Given the description of an element on the screen output the (x, y) to click on. 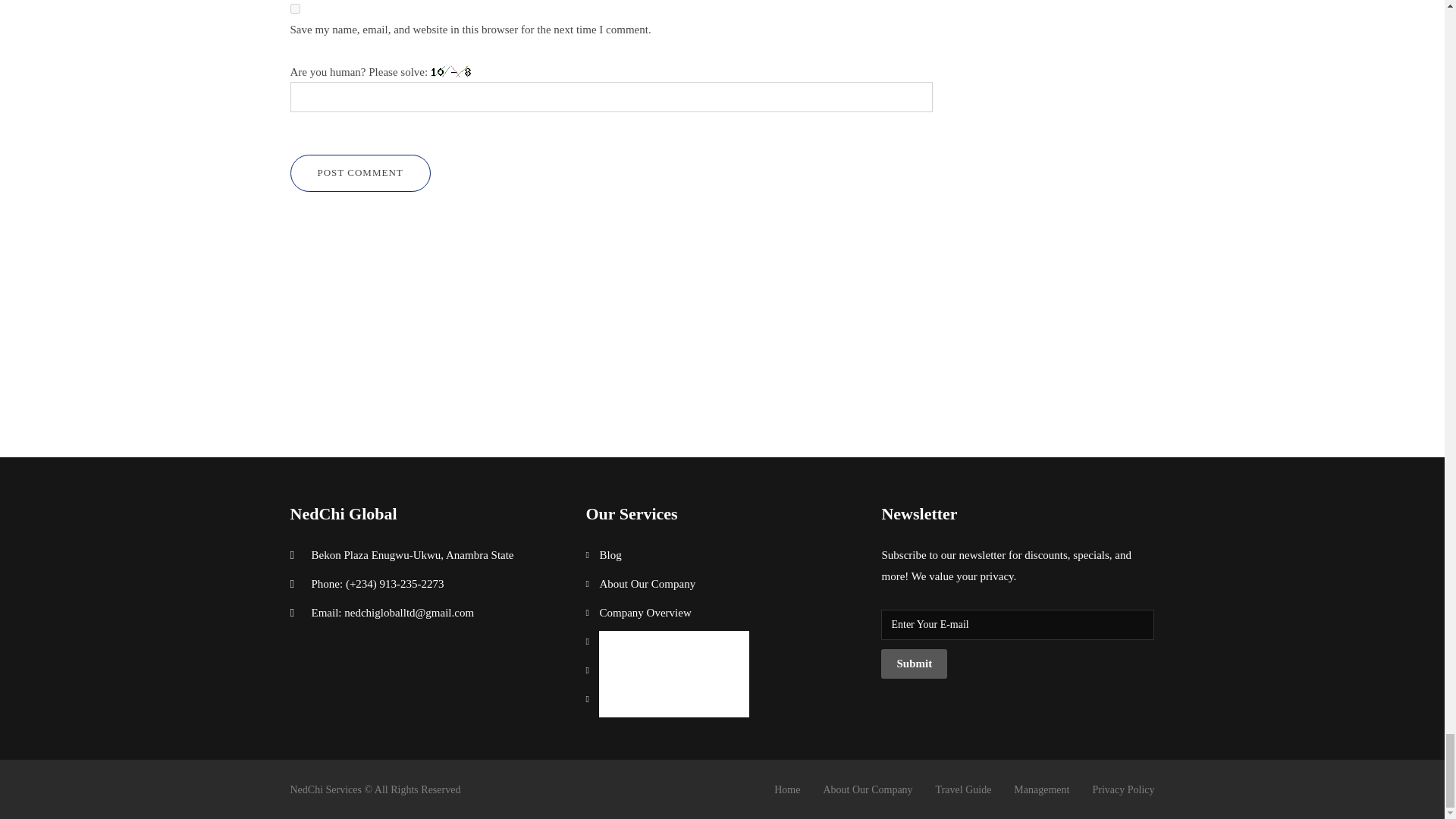
Enter Your E-mail (1017, 624)
yes (294, 8)
